Given the description of an element on the screen output the (x, y) to click on. 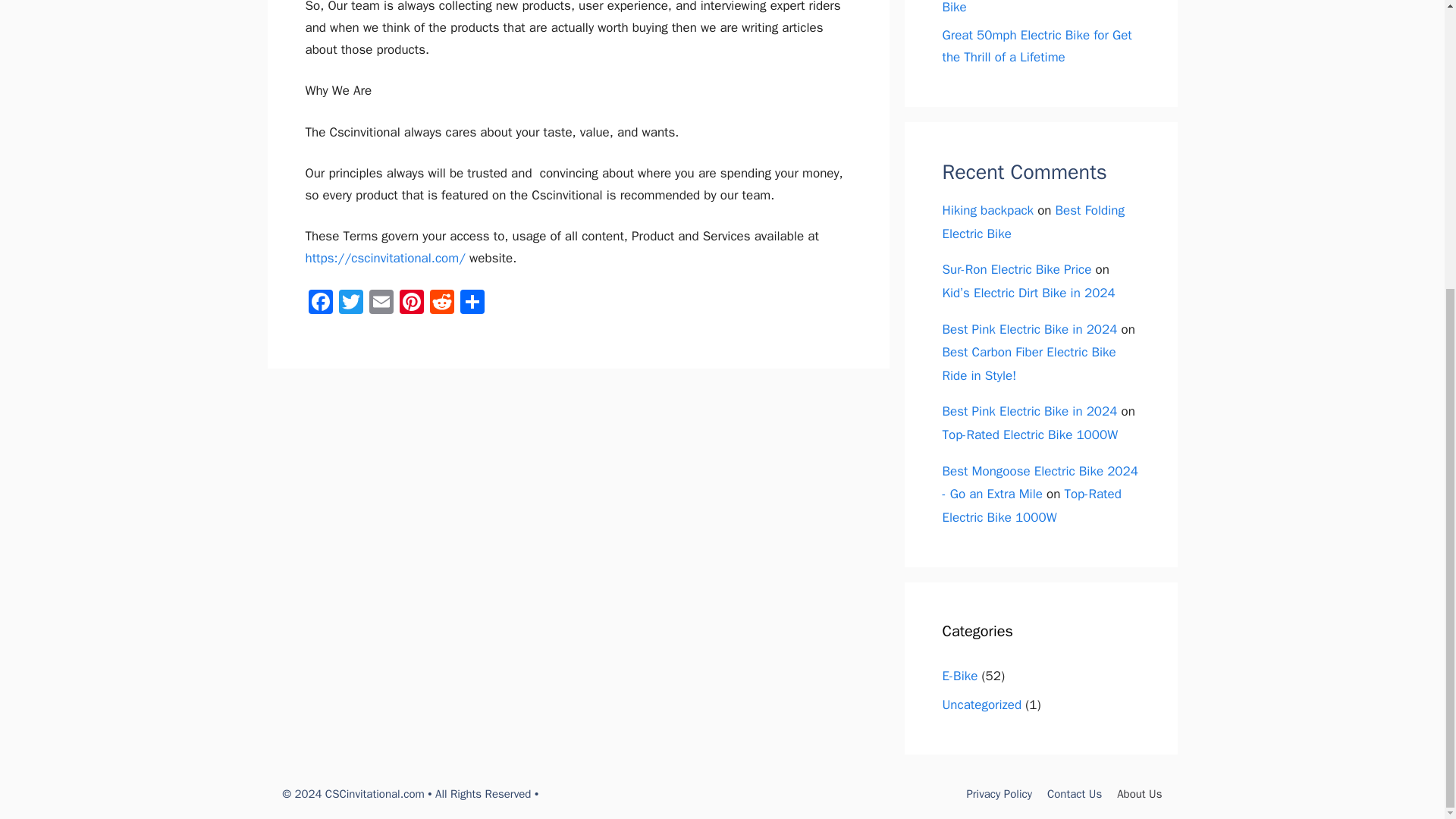
E-Bike (959, 675)
About Us (1138, 793)
Facebook (319, 303)
Best Mongoose Electric Bike 2024 - Go an Extra Mile (1039, 482)
Email (380, 303)
Sur-Ron Electric Bike Price (1016, 269)
Twitter (349, 303)
Twitter (349, 303)
Best Pink Electric Bike in 2024 (1029, 329)
Top-Rated Electric Bike 1000W (1030, 434)
Reddit (441, 303)
Best Folding Electric Bike (1033, 221)
Top-Rated Electric Bike 1000W (1031, 505)
Pinterest (411, 303)
Hiking backpack (987, 210)
